Given the description of an element on the screen output the (x, y) to click on. 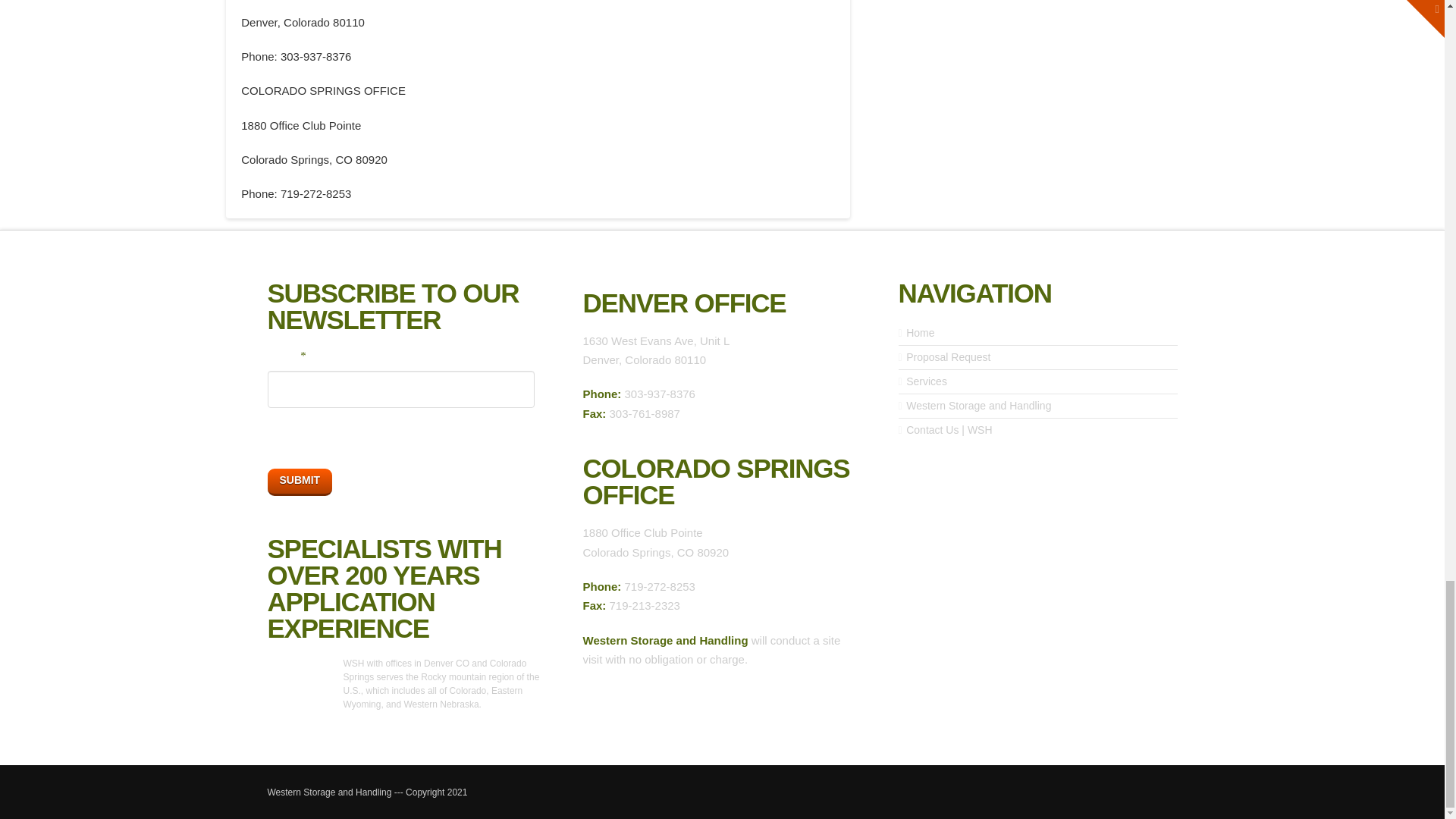
Submit (298, 482)
